Given the description of an element on the screen output the (x, y) to click on. 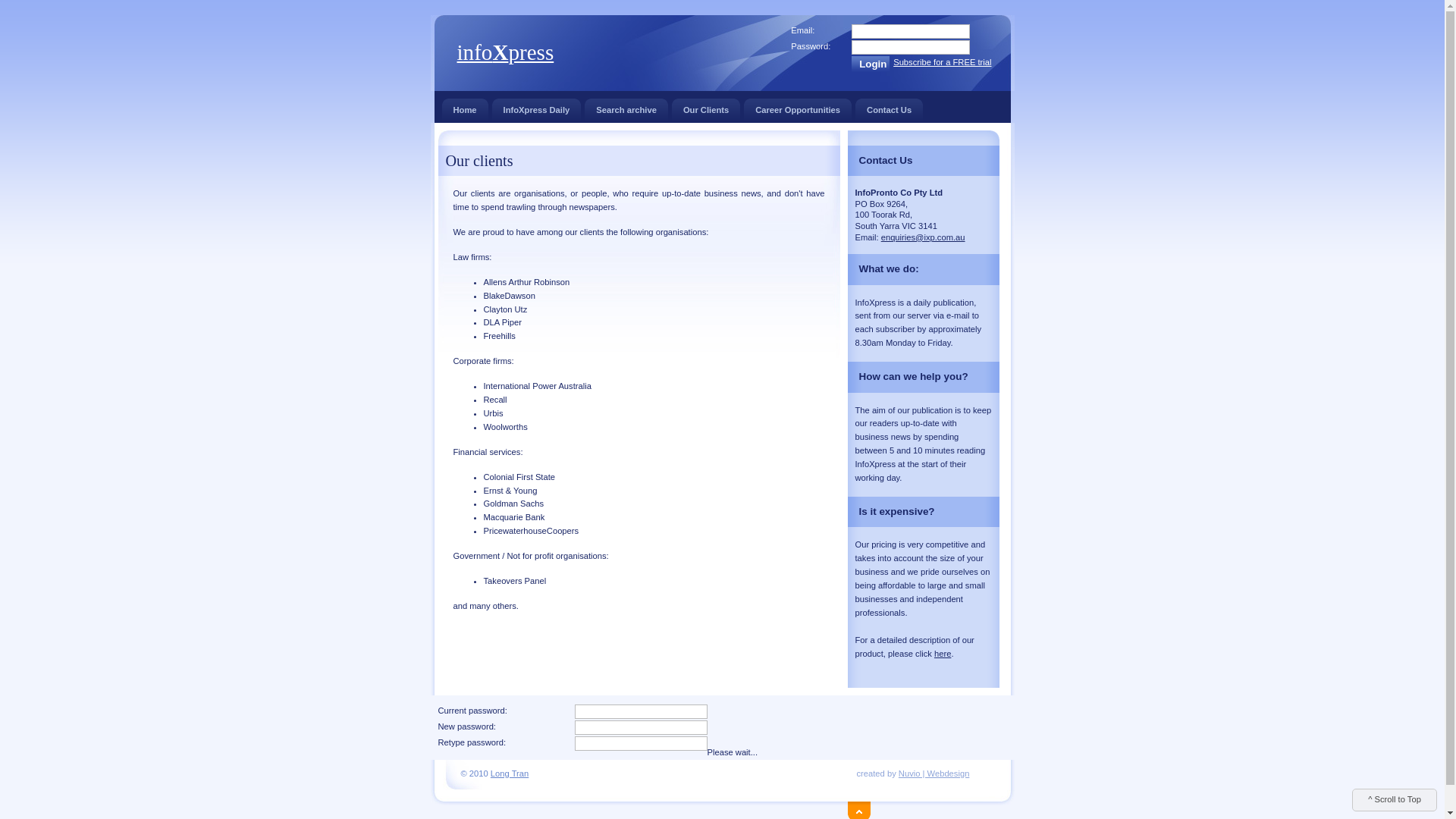
Login Element type: text (870, 64)
Nuvio | Webdesign Element type: text (933, 773)
^ Scroll to Top Element type: text (1394, 799)
Search archive Element type: text (626, 110)
Career Opportunities Element type: text (797, 110)
Long Tran Element type: text (509, 773)
enquiries@ixp.com.au Element type: text (923, 236)
Our Clients Element type: text (705, 110)
Contact Us Element type: text (888, 110)
Home Element type: text (464, 110)
^ Element type: text (849, 807)
here Element type: text (942, 653)
Subscribe for a FREE trial Element type: text (942, 62)
infoXpress Element type: text (504, 52)
InfoXpress Daily Element type: text (536, 110)
